Given the description of an element on the screen output the (x, y) to click on. 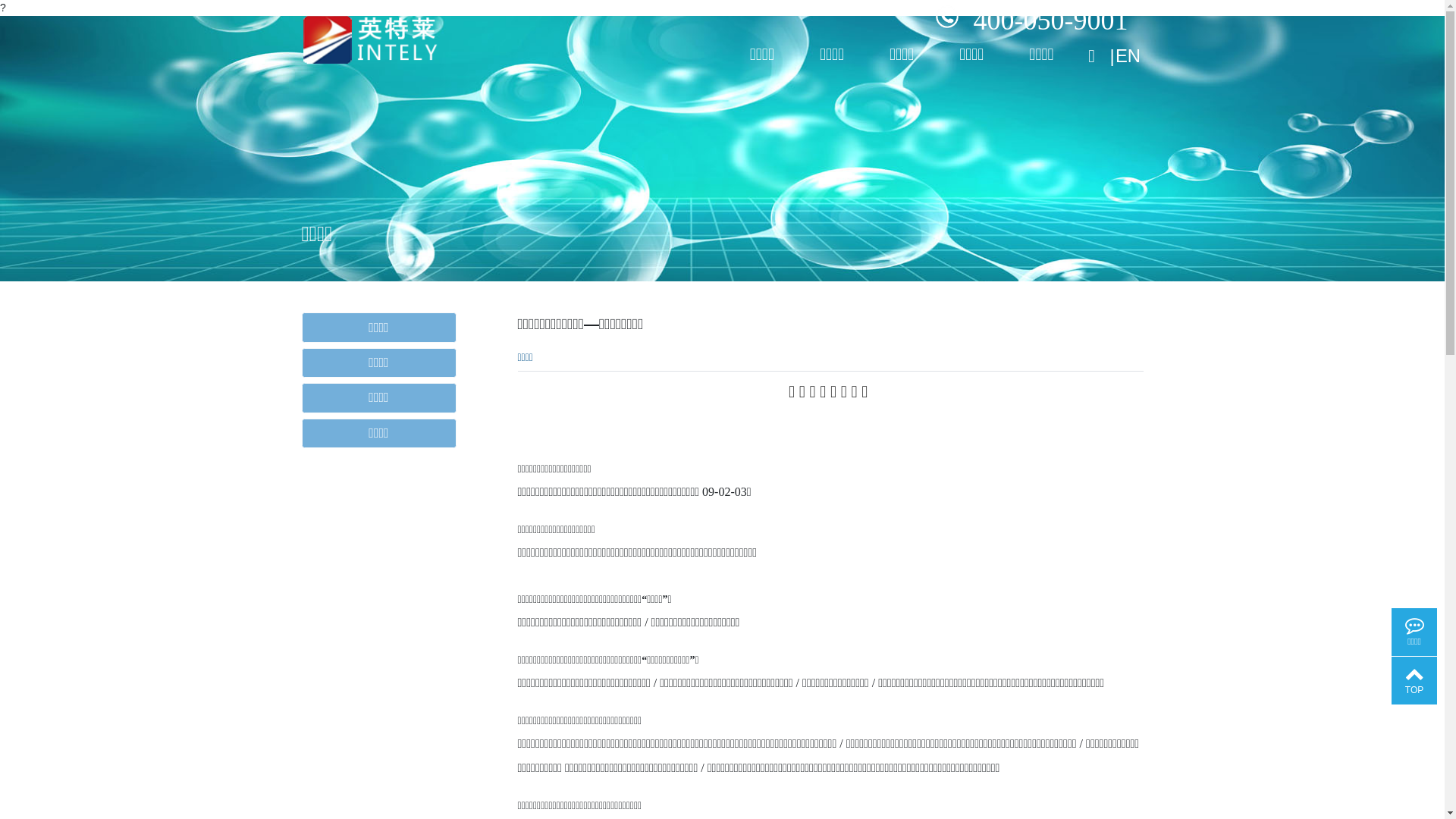
| Element type: text (1110, 50)
EN Element type: text (1128, 50)
